Given the description of an element on the screen output the (x, y) to click on. 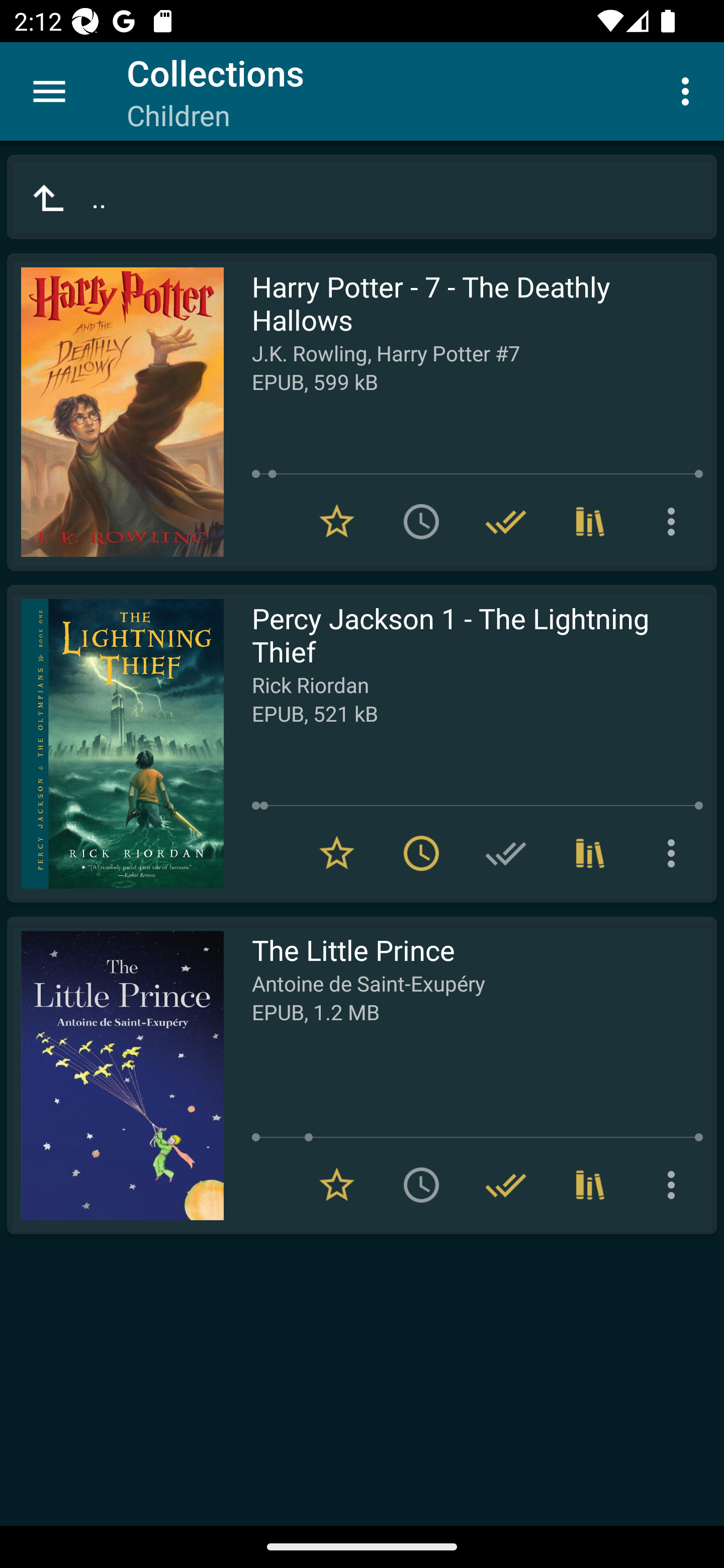
Menu (49, 91)
More options (688, 90)
.. (361, 197)
Read Harry Potter - 7 - The Deathly Hallows (115, 412)
Remove from Favorites (336, 521)
Add to To read (421, 521)
Remove from Have read (505, 521)
Collections (3) (590, 521)
More options (674, 521)
Read Percy Jackson 1 - The Lightning Thief (115, 743)
Remove from Favorites (336, 852)
Remove from To read (421, 852)
Add to Have read (505, 852)
Collections (1) (590, 852)
More options (674, 852)
Read The Little Prince (115, 1075)
Remove from Favorites (336, 1185)
Add to To read (421, 1185)
Remove from Have read (505, 1185)
Collections (1) (590, 1185)
More options (674, 1185)
